Given the description of an element on the screen output the (x, y) to click on. 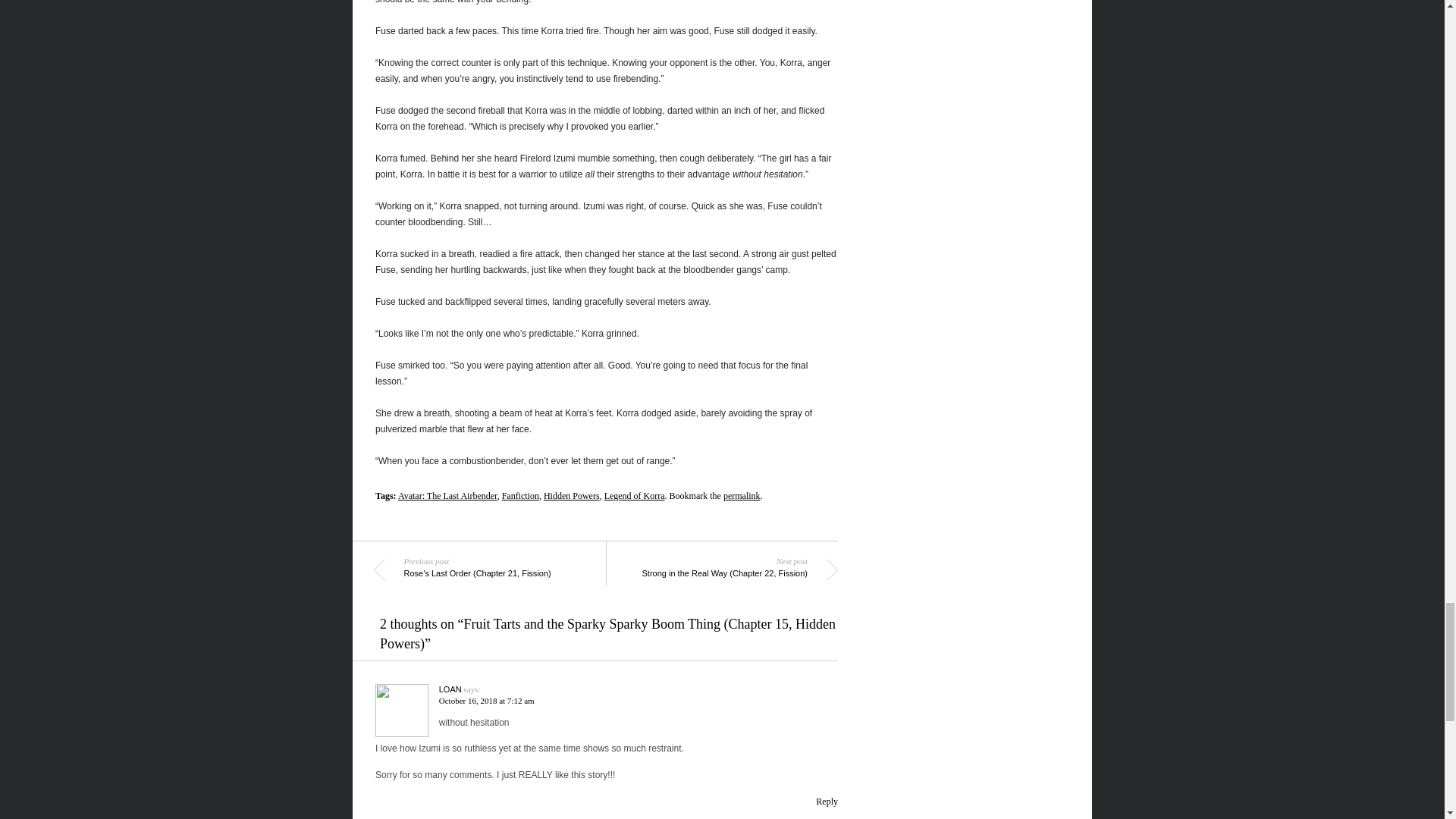
Reply (826, 801)
October 16, 2018 at 7:12 am (486, 700)
permalink (741, 495)
Legend of Korra (634, 495)
LOAN (450, 688)
Avatar: The Last Airbender (447, 495)
Fanfiction (520, 495)
Hidden Powers (571, 495)
